Given the description of an element on the screen output the (x, y) to click on. 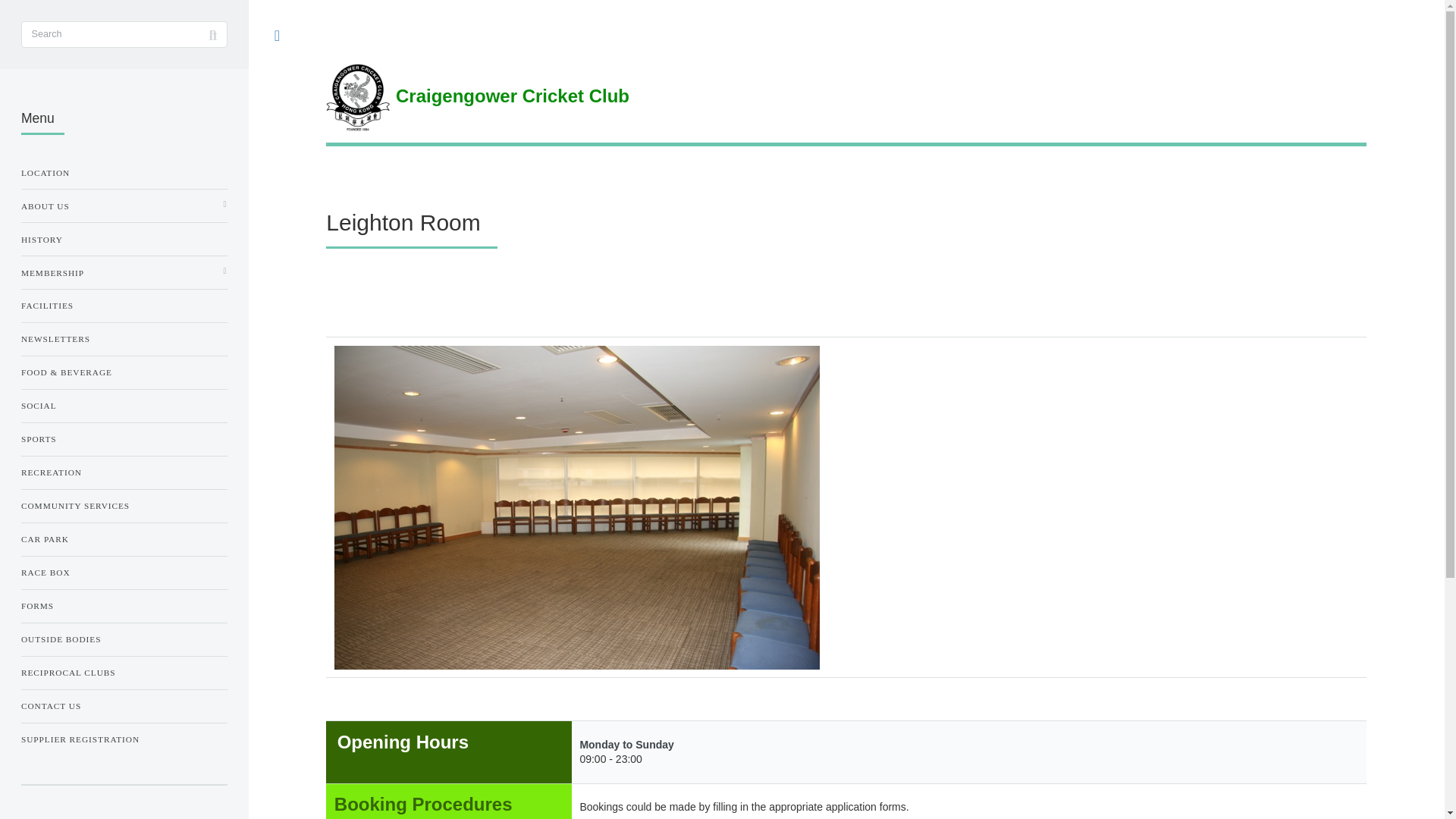
RACE BOX (124, 572)
CONTACT US (124, 705)
SOCIAL (124, 404)
RECIPROCAL CLUBS (124, 671)
CAR PARK (124, 538)
OUTSIDE BODIES (124, 639)
SUPPLIER REGISTRATION (124, 739)
COMMUNITY SERVICES (124, 505)
RECREATION (124, 472)
FORMS (124, 605)
HISTORY (124, 238)
Craigengower Cricket Club (846, 97)
SPORTS (124, 438)
FACILITIES (124, 305)
LOCATION (124, 172)
